Given the description of an element on the screen output the (x, y) to click on. 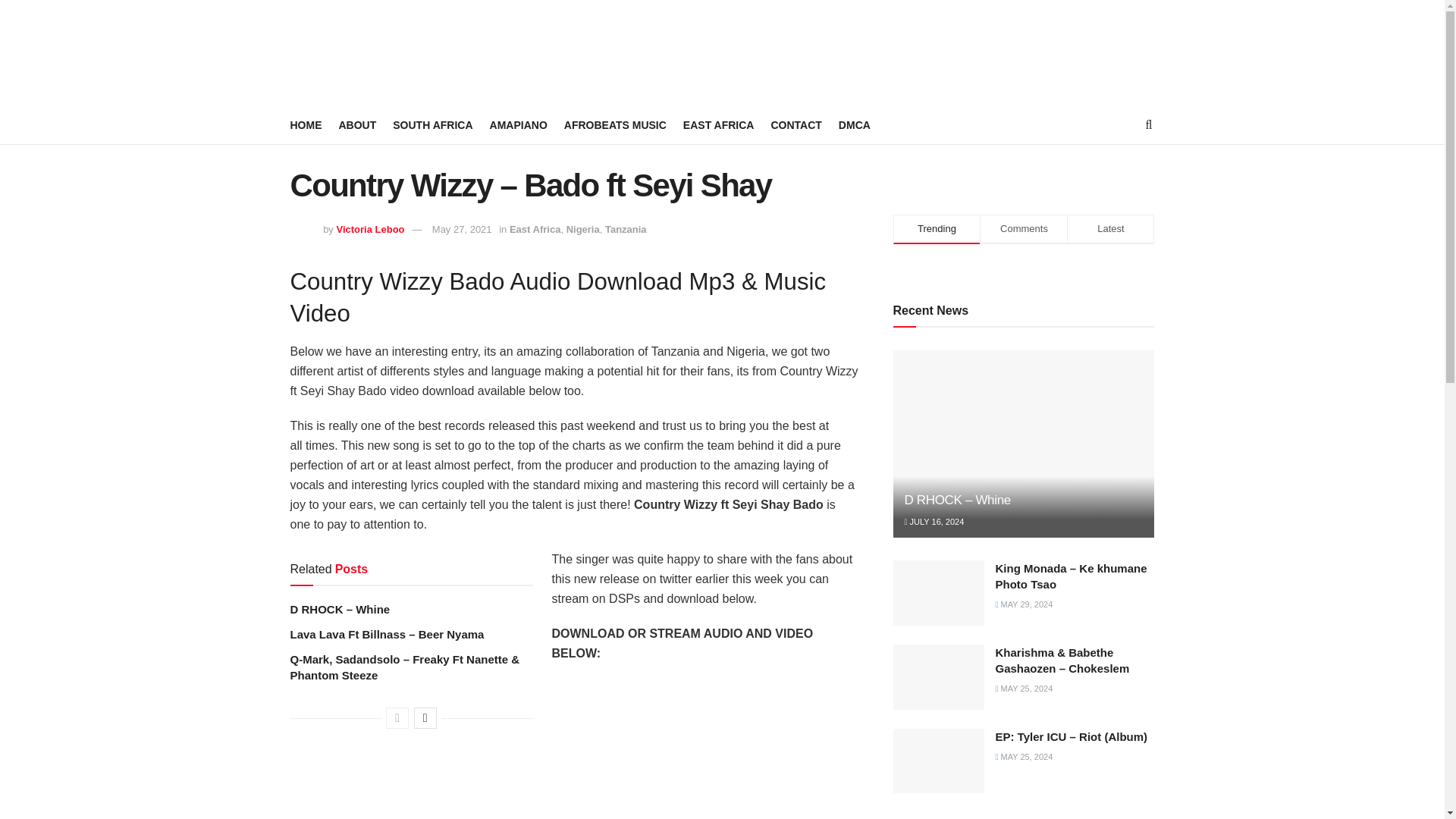
AFROBEATS MUSIC (615, 124)
Tanzania (625, 229)
May 27, 2021 (462, 229)
East Africa (534, 229)
DMCA (854, 124)
Nigeria (582, 229)
AMAPIANO (518, 124)
HOME (305, 124)
SOUTH AFRICA (432, 124)
Previous (397, 717)
Next (424, 717)
EAST AFRICA (718, 124)
ABOUT (356, 124)
Victoria Leboo (370, 229)
CONTACT (795, 124)
